Given the description of an element on the screen output the (x, y) to click on. 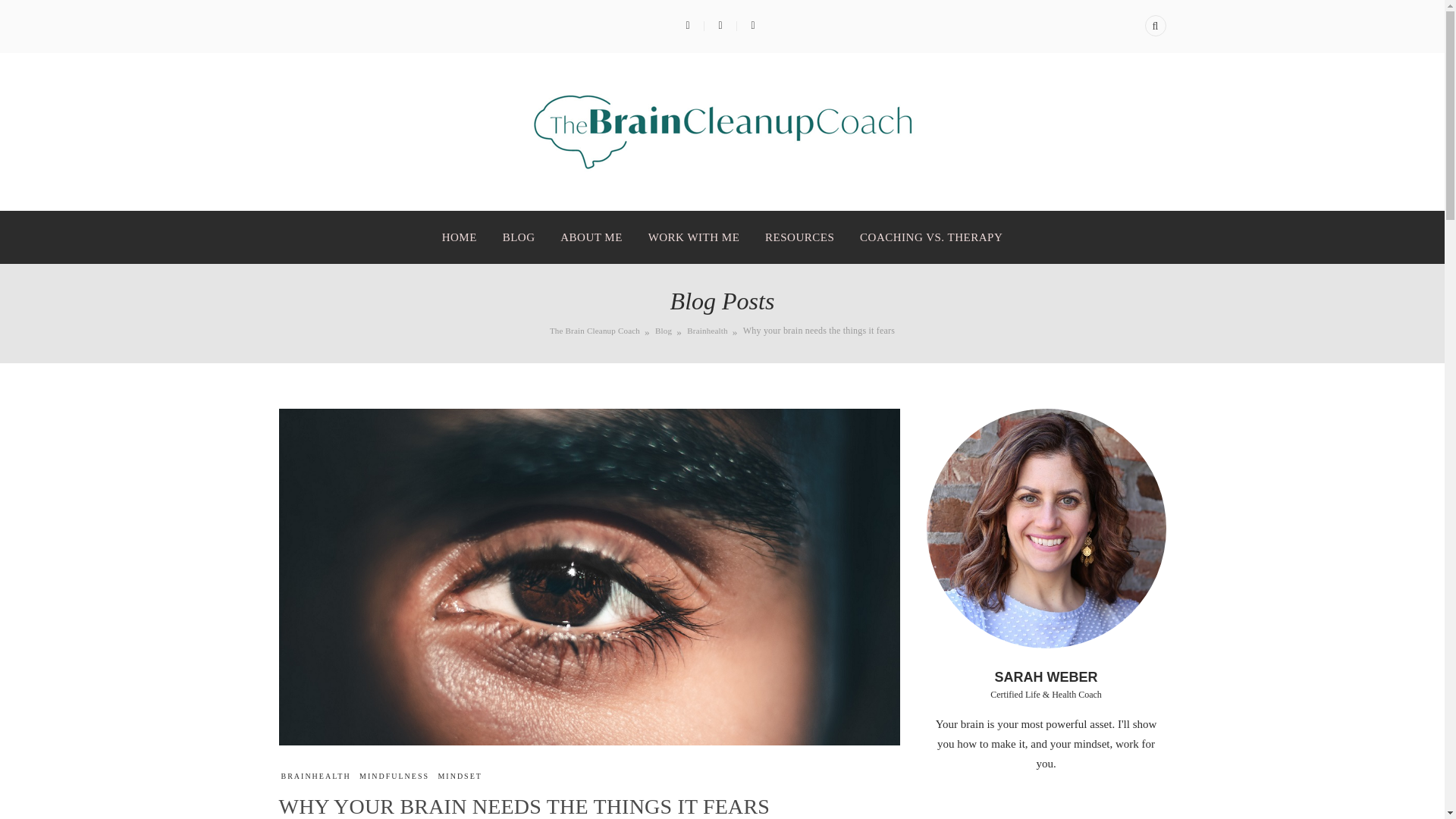
BLOG (519, 236)
Go to Blog. (663, 329)
BRAINHEALTH (315, 776)
COACHING VS. THERAPY (930, 236)
MINDFULNESS (394, 776)
RESOURCES (799, 236)
Mail (752, 25)
Facebook (687, 25)
MINDSET (459, 776)
Go to the Brainhealth Category archives. (707, 329)
Brainhealth (707, 329)
WORK WITH ME (694, 236)
HOME (458, 236)
The Brain Cleanup Coach (595, 329)
Blog (663, 329)
